Given the description of an element on the screen output the (x, y) to click on. 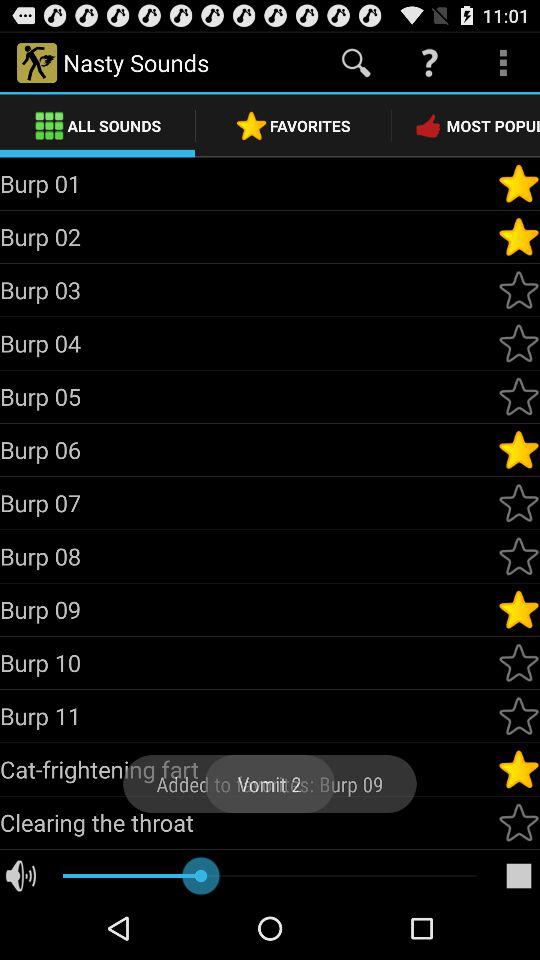
select as most popular (519, 343)
